Given the description of an element on the screen output the (x, y) to click on. 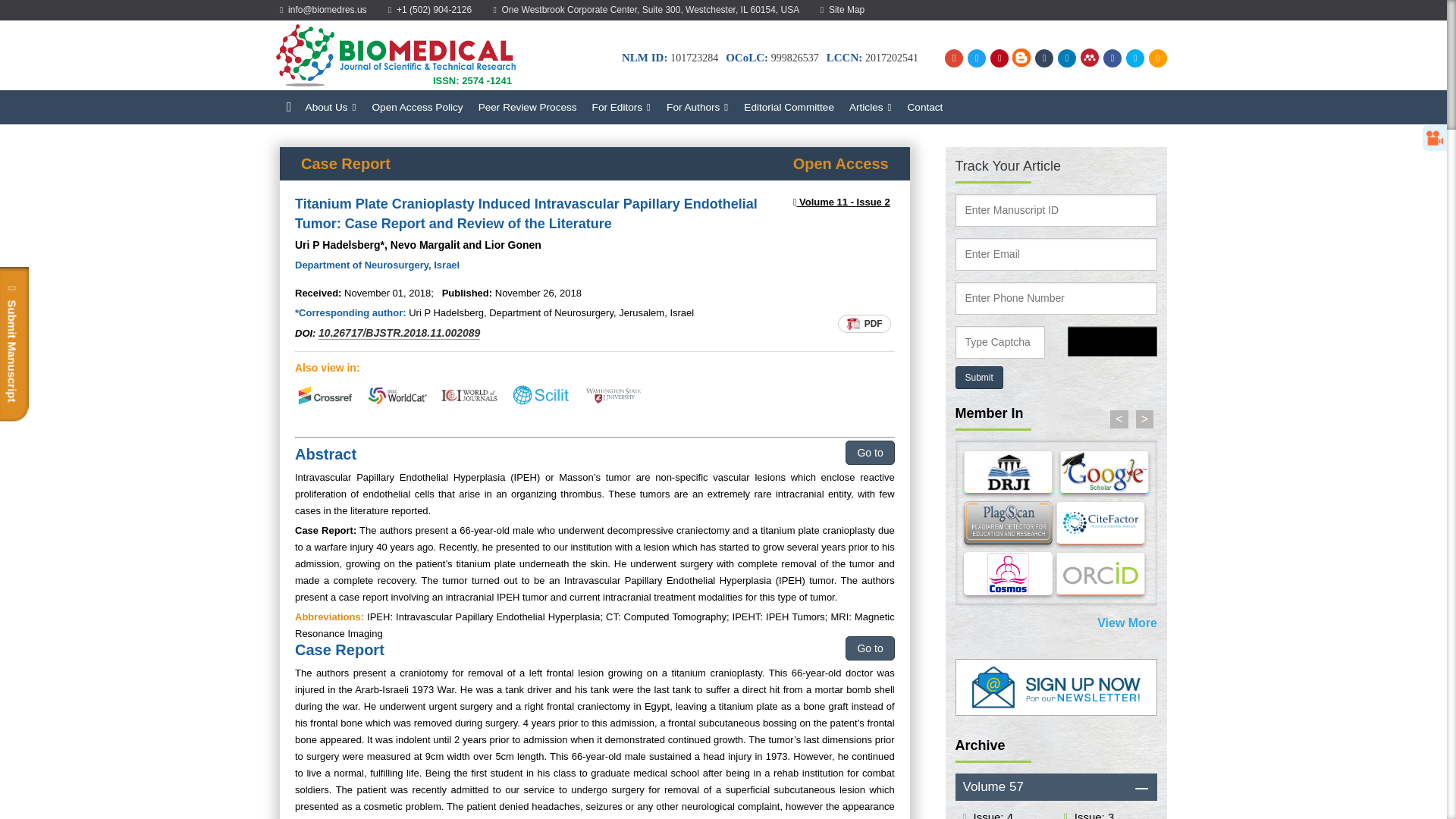
Click here (991, 814)
Open Access Policy (417, 107)
999826537 (794, 57)
Peer Review Process (527, 107)
For Authors (697, 107)
Click here (1092, 814)
  Site Map (842, 9)
rss (1155, 57)
Articles (870, 107)
2017202541 (891, 57)
For Editors (622, 107)
About Us (331, 107)
Editorial Committee (788, 107)
101723284 (693, 57)
